Given the description of an element on the screen output the (x, y) to click on. 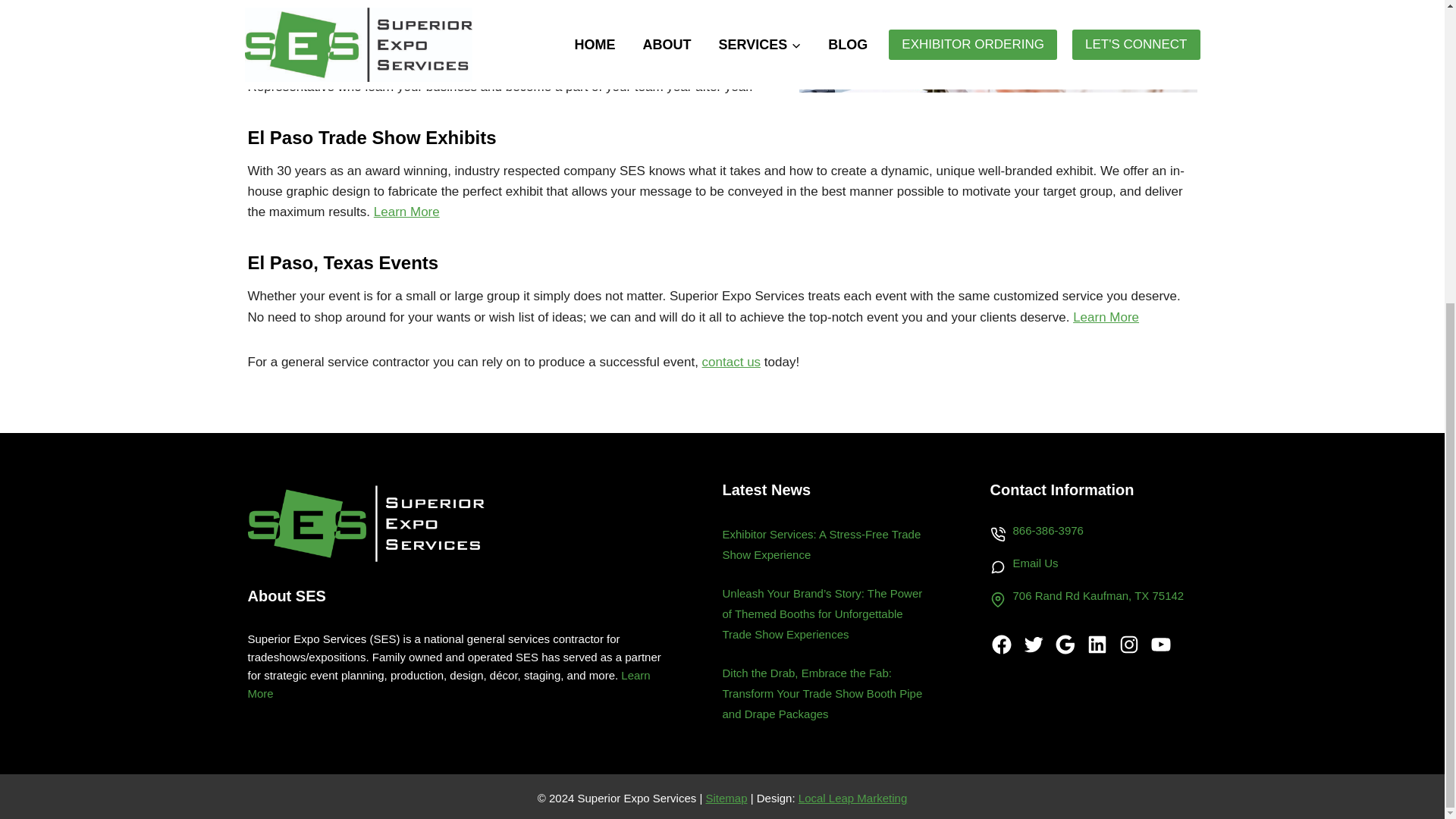
Email Us (1035, 562)
Google (1065, 644)
Learn More (448, 684)
contact us (731, 361)
Instagram (1129, 644)
LinkedIn (1097, 644)
Twitter (1033, 644)
Learn More (406, 211)
706 Rand Rd Kaufman, TX 75142 (1087, 599)
Sitemap (725, 797)
YouTube (1161, 644)
866-386-3976 (1048, 530)
Exhibitor Services: A Stress-Free Trade Show Experience (821, 544)
Learn More (1105, 317)
